Given the description of an element on the screen output the (x, y) to click on. 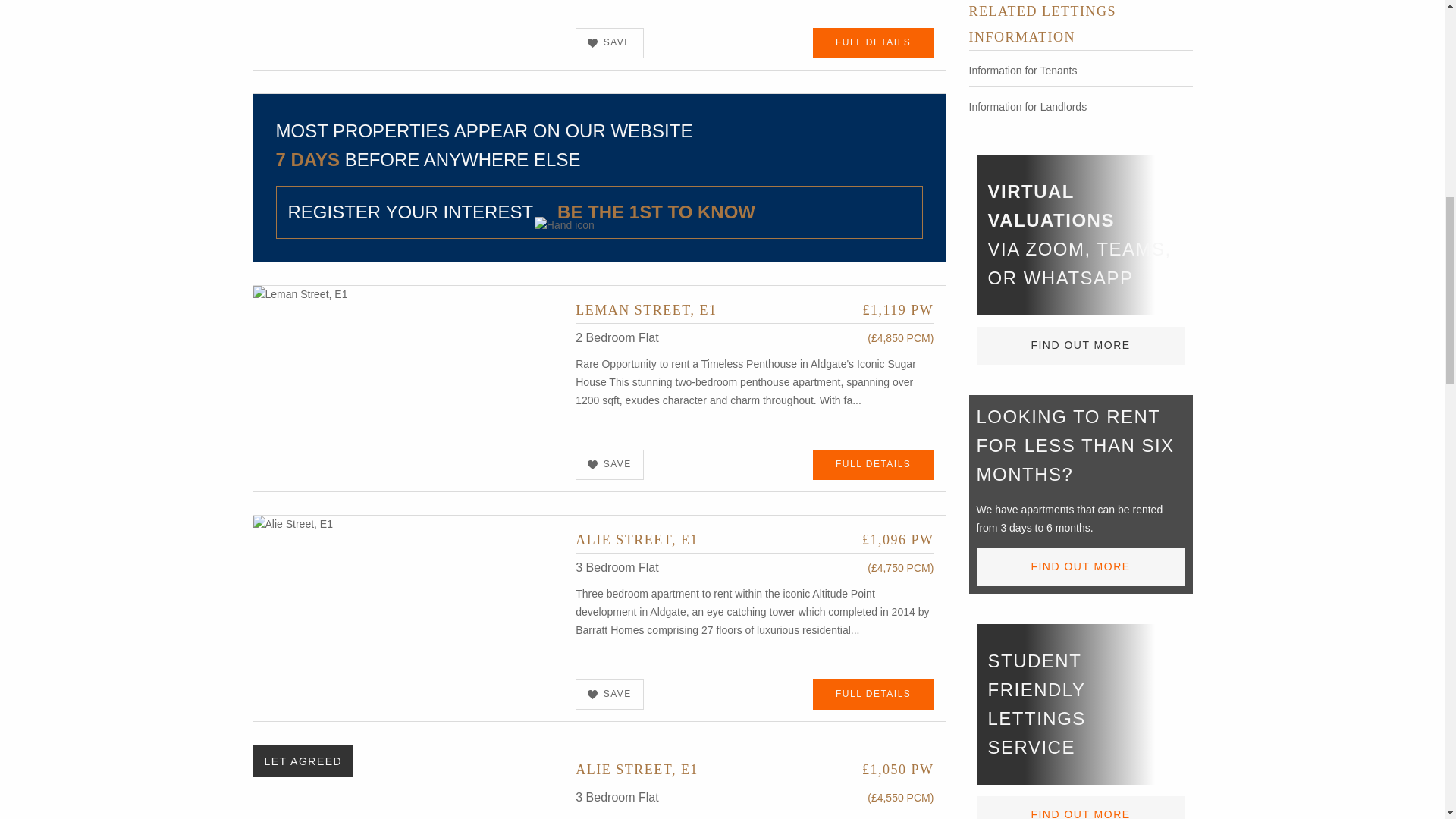
HEART CREATED USING FIGMA (592, 694)
FULL DETAILS (873, 694)
SAVE (609, 464)
View property details (408, 387)
FULL DETAILS (873, 464)
HEART CREATED USING FIGMA (592, 42)
View property details (754, 309)
FULL DETAILS (873, 42)
View property details (408, 616)
View property details (754, 769)
